Given the description of an element on the screen output the (x, y) to click on. 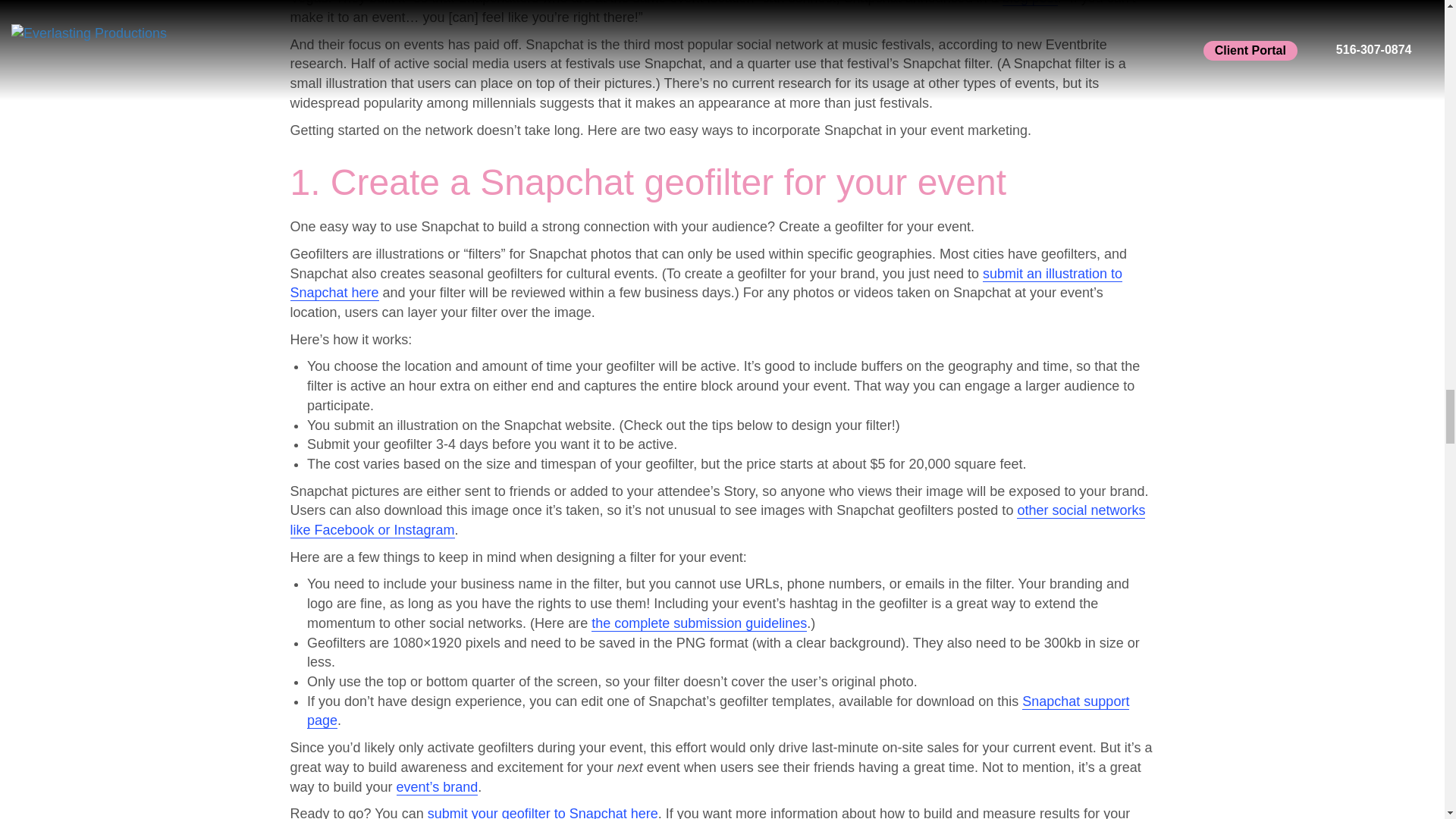
submit your geofilter to Snapchat here (543, 812)
the complete submission guidelines (698, 622)
submit an illustration to Snapchat here (705, 283)
blog post (1030, 2)
other social networks like Facebook or Instagram (716, 519)
Snapchat support page (718, 710)
